Given the description of an element on the screen output the (x, y) to click on. 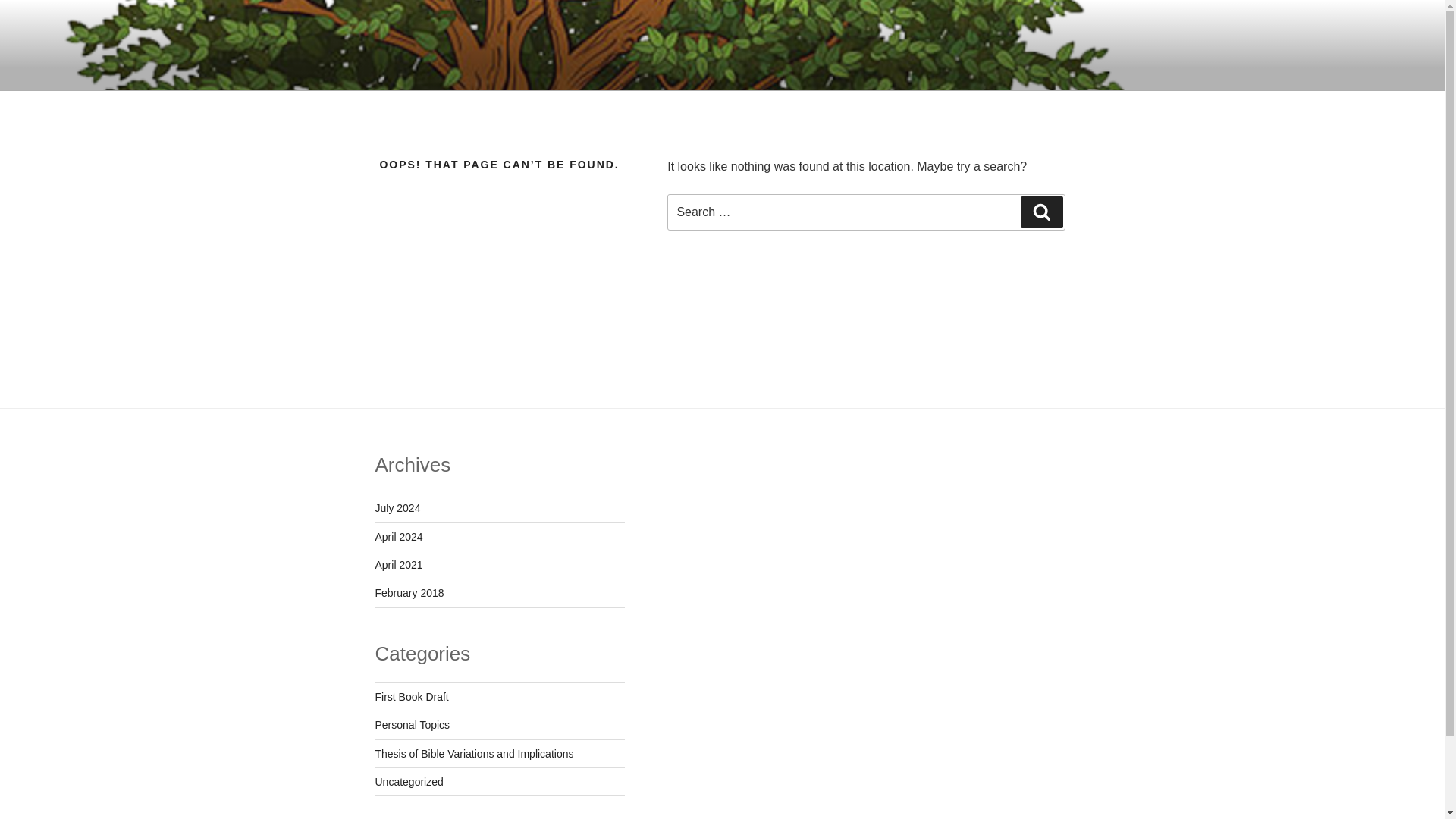
February 2018 (409, 592)
April 2021 (398, 564)
Personal Topics (411, 725)
First Book Draft (411, 696)
Thesis of Bible Variations and Implications (473, 753)
July 2024 (397, 508)
Uncategorized (408, 781)
Search (1041, 212)
April 2024 (398, 536)
